Given the description of an element on the screen output the (x, y) to click on. 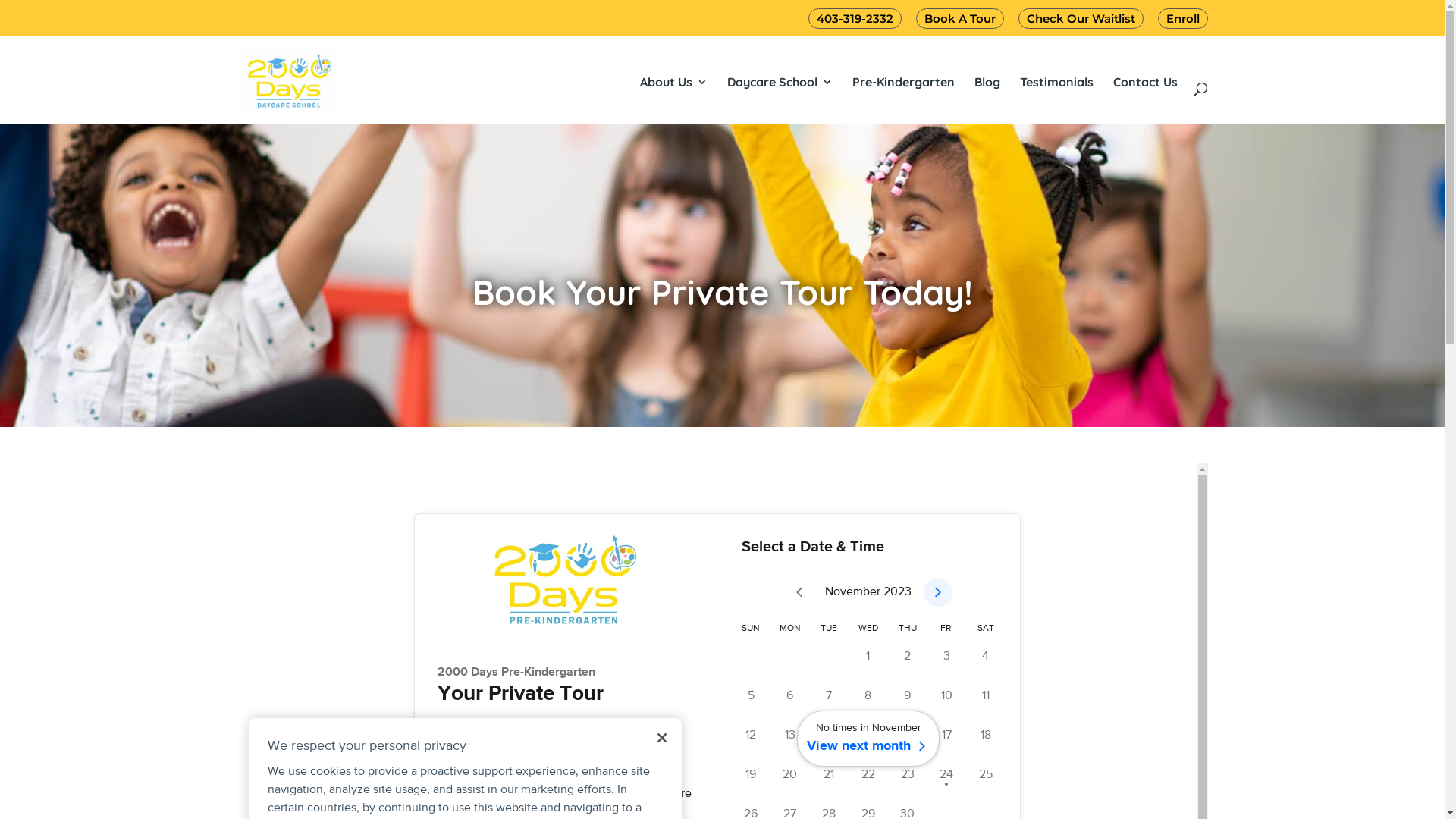
Blog Element type: text (986, 81)
Book A Tour Element type: text (960, 18)
Check Our Waitlist Element type: text (1079, 18)
Enroll Element type: text (1182, 18)
Daycare School Element type: text (778, 81)
Contact Us Element type: text (1145, 81)
Testimonials Element type: text (1055, 81)
Pre-Kindergarten Element type: text (903, 81)
About Us Element type: text (673, 81)
403-319-2332 Element type: text (854, 18)
